Given the description of an element on the screen output the (x, y) to click on. 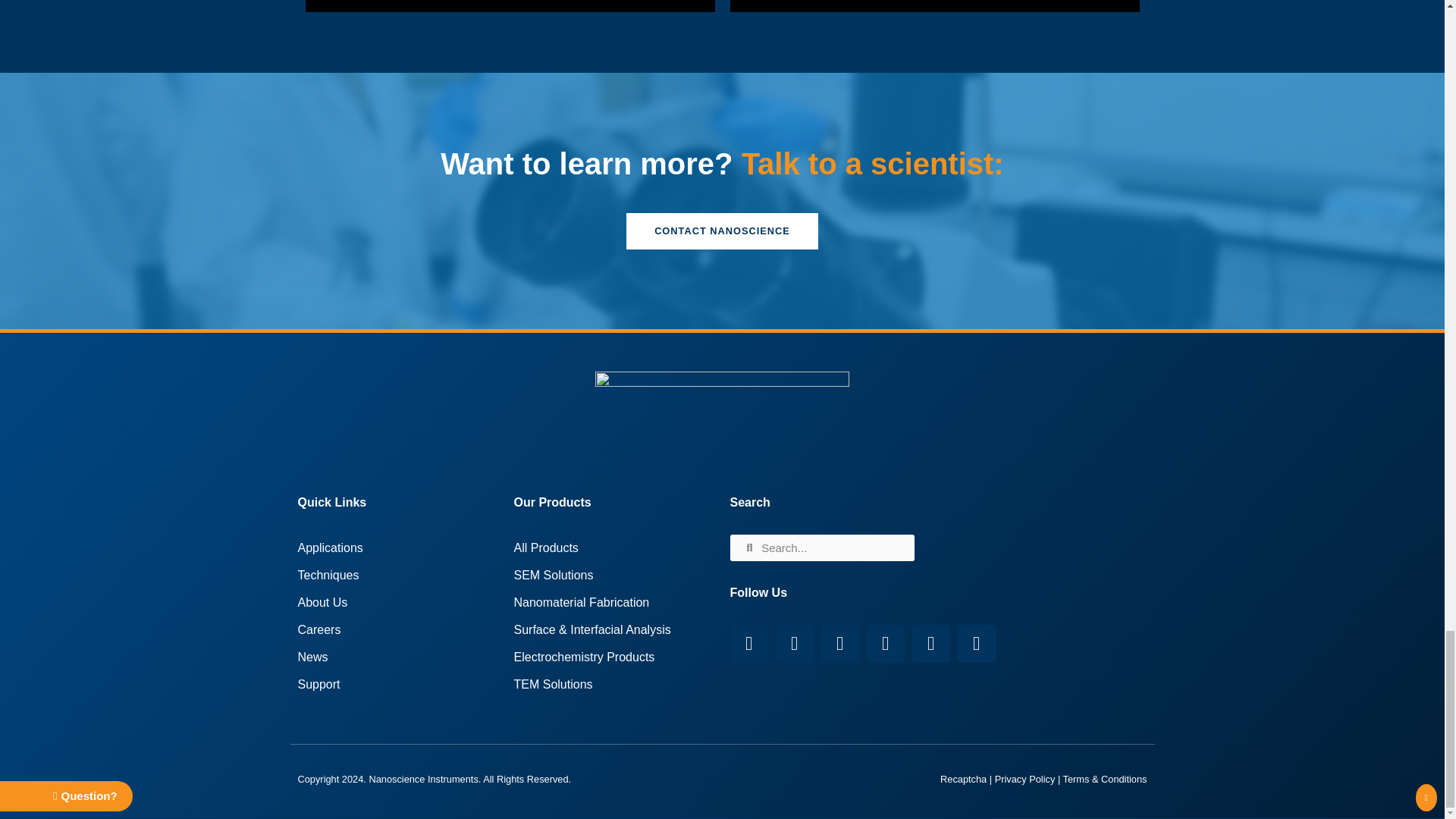
vimeo Video Player (509, 6)
vimeo Video Player (933, 6)
